Given the description of an element on the screen output the (x, y) to click on. 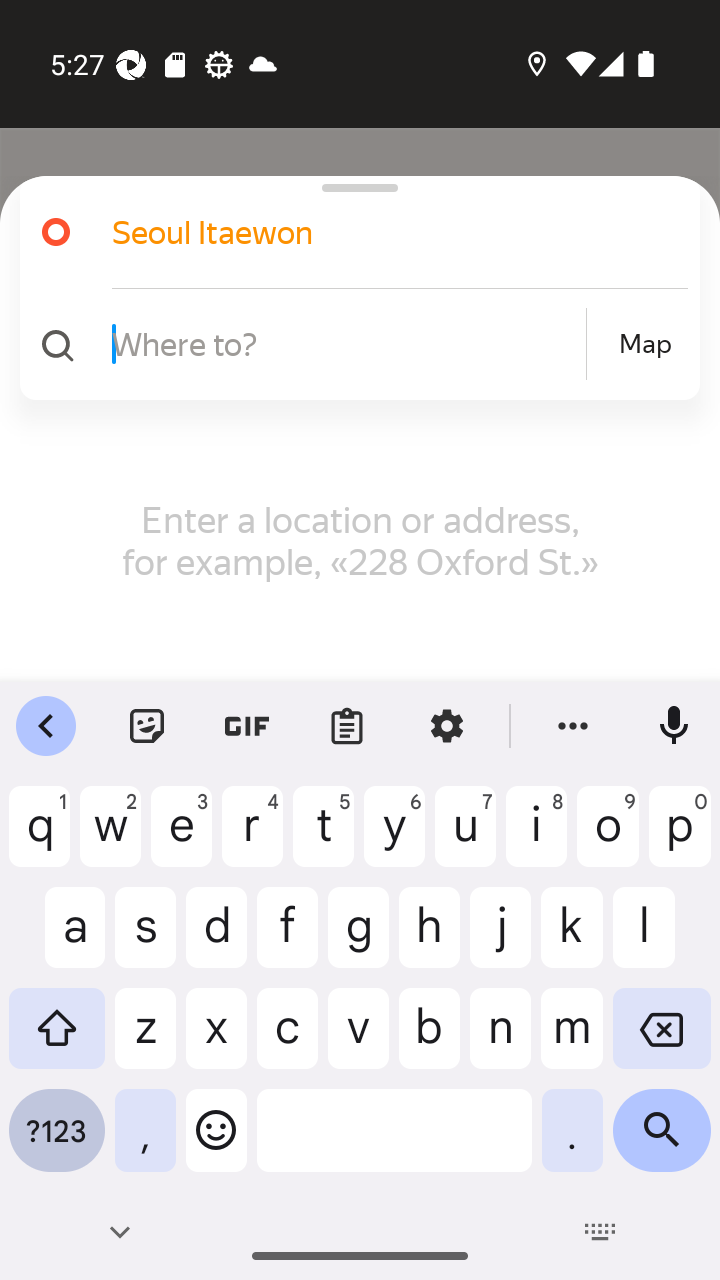
Seoul Itaewon (352, 232)
Seoul Itaewon (373, 232)
Where to? Map Map (352, 343)
Map (645, 343)
Where to? (346, 343)
